Given the description of an element on the screen output the (x, y) to click on. 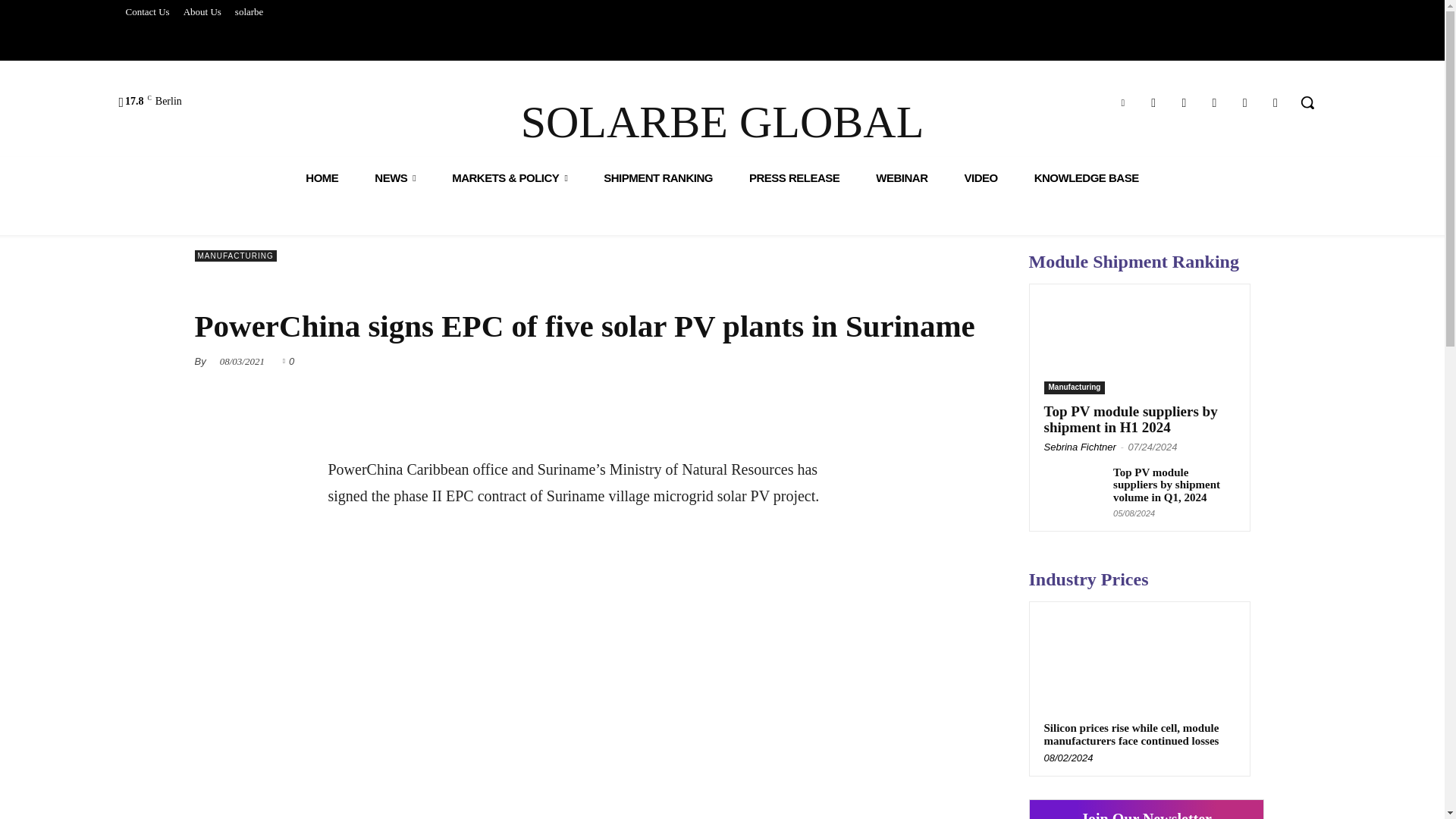
Instagram (1214, 102)
RSS (1275, 102)
Youtube (1244, 102)
About Us (202, 12)
Contact Us (146, 12)
solarbe (249, 12)
NEWS (394, 178)
SOLARBE GLOBAL (721, 122)
Linkedin (1122, 102)
Facebook (1152, 102)
HOME (321, 178)
Twitter (1183, 102)
